Given the description of an element on the screen output the (x, y) to click on. 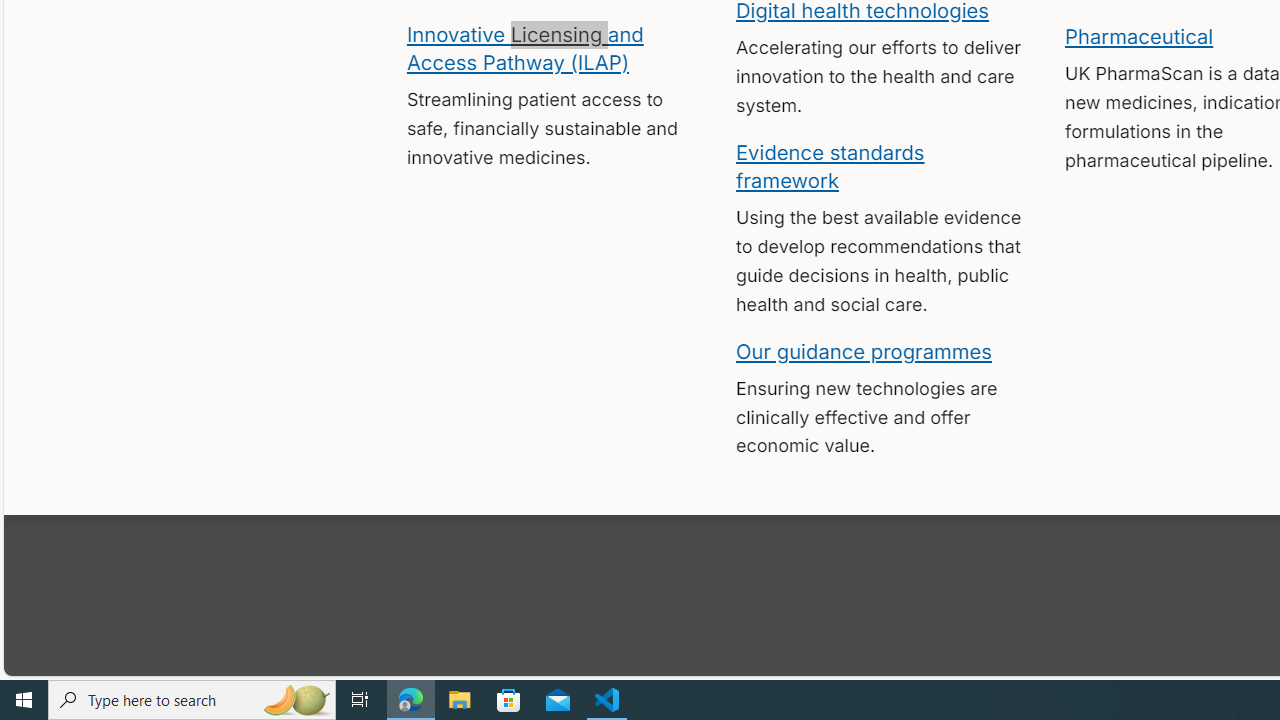
Our guidance programmes (863, 350)
Evidence standards framework (829, 165)
Innovative Licensing and Access Pathway (ILAP) (524, 47)
Pharmaceutical (1138, 35)
